Given the description of an element on the screen output the (x, y) to click on. 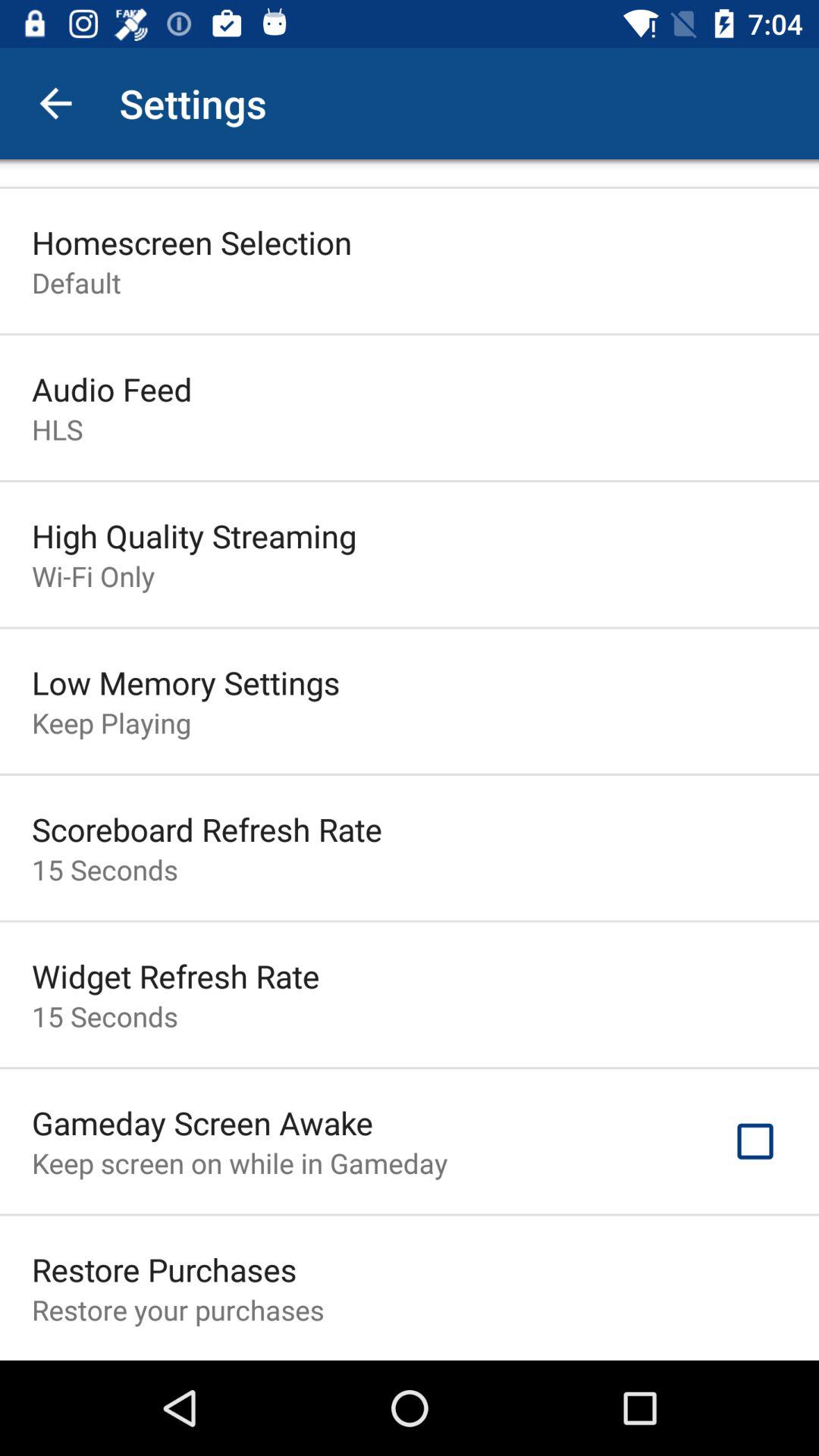
turn on the item above the low memory settings (92, 575)
